Given the description of an element on the screen output the (x, y) to click on. 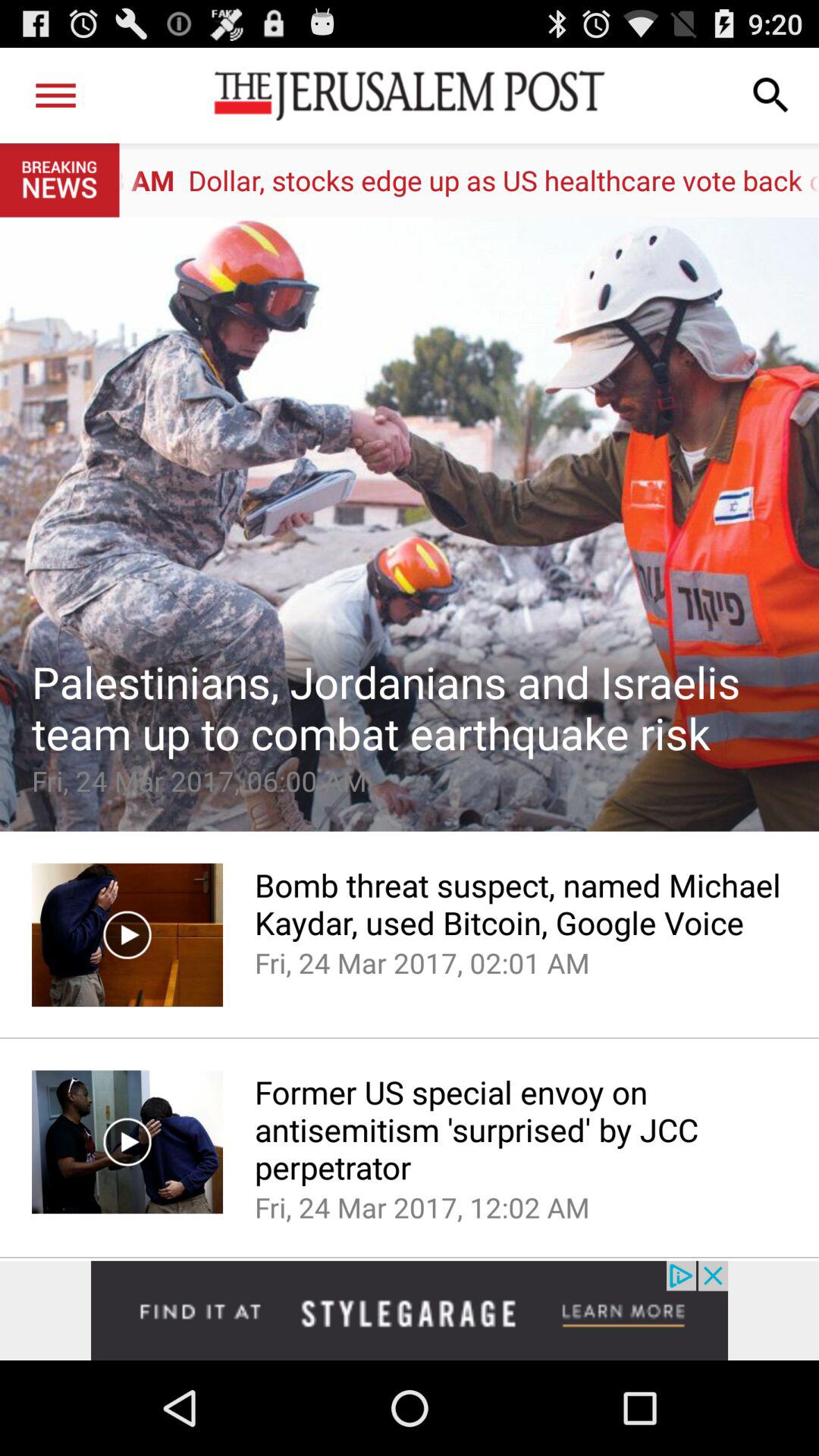
view article (409, 524)
